Given the description of an element on the screen output the (x, y) to click on. 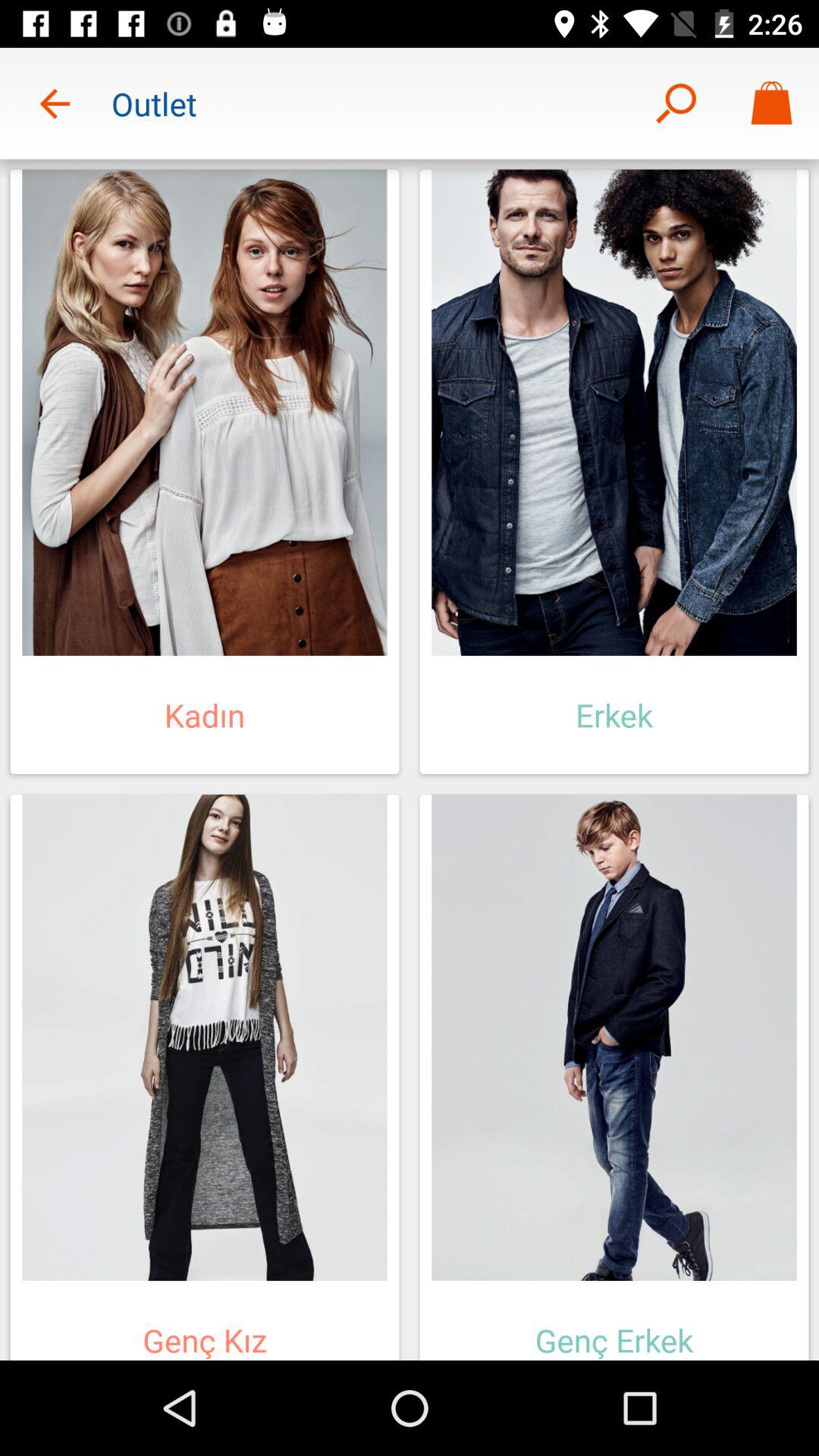
open icon next to the outlet (55, 103)
